Given the description of an element on the screen output the (x, y) to click on. 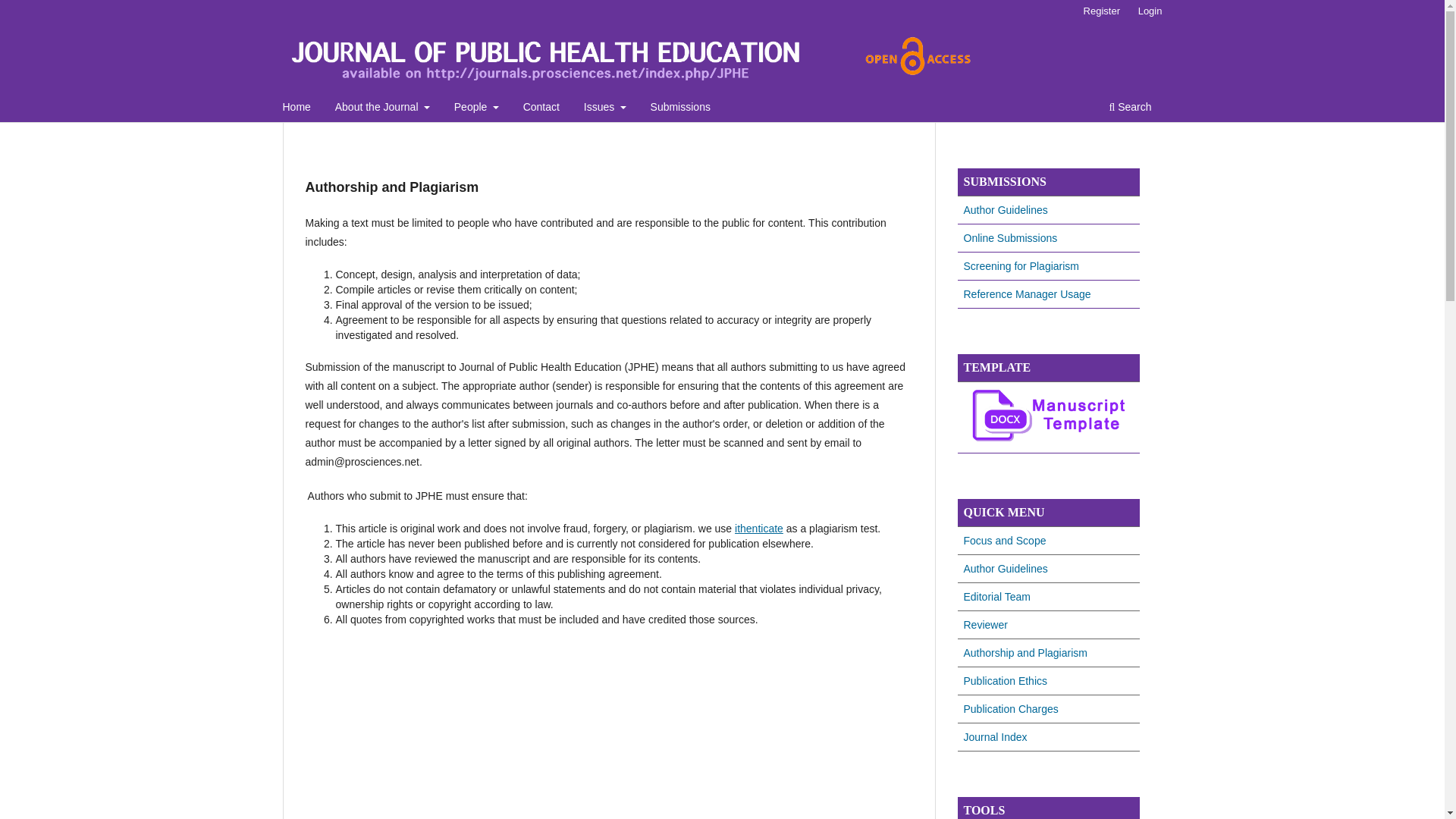
Author Guidelines (1004, 209)
Journal Index (994, 736)
Publication Ethics (1004, 680)
Publication Charges (1010, 708)
About the Journal (382, 108)
template (1047, 439)
Search (1129, 108)
Focus and Scope (1003, 540)
Reference Manager Usage (1026, 294)
Reviewer (984, 624)
Online Submissions (1009, 237)
Register (1100, 11)
Authorship and Plagiarism (1024, 653)
Editorial Team (995, 596)
Issues (604, 108)
